Given the description of an element on the screen output the (x, y) to click on. 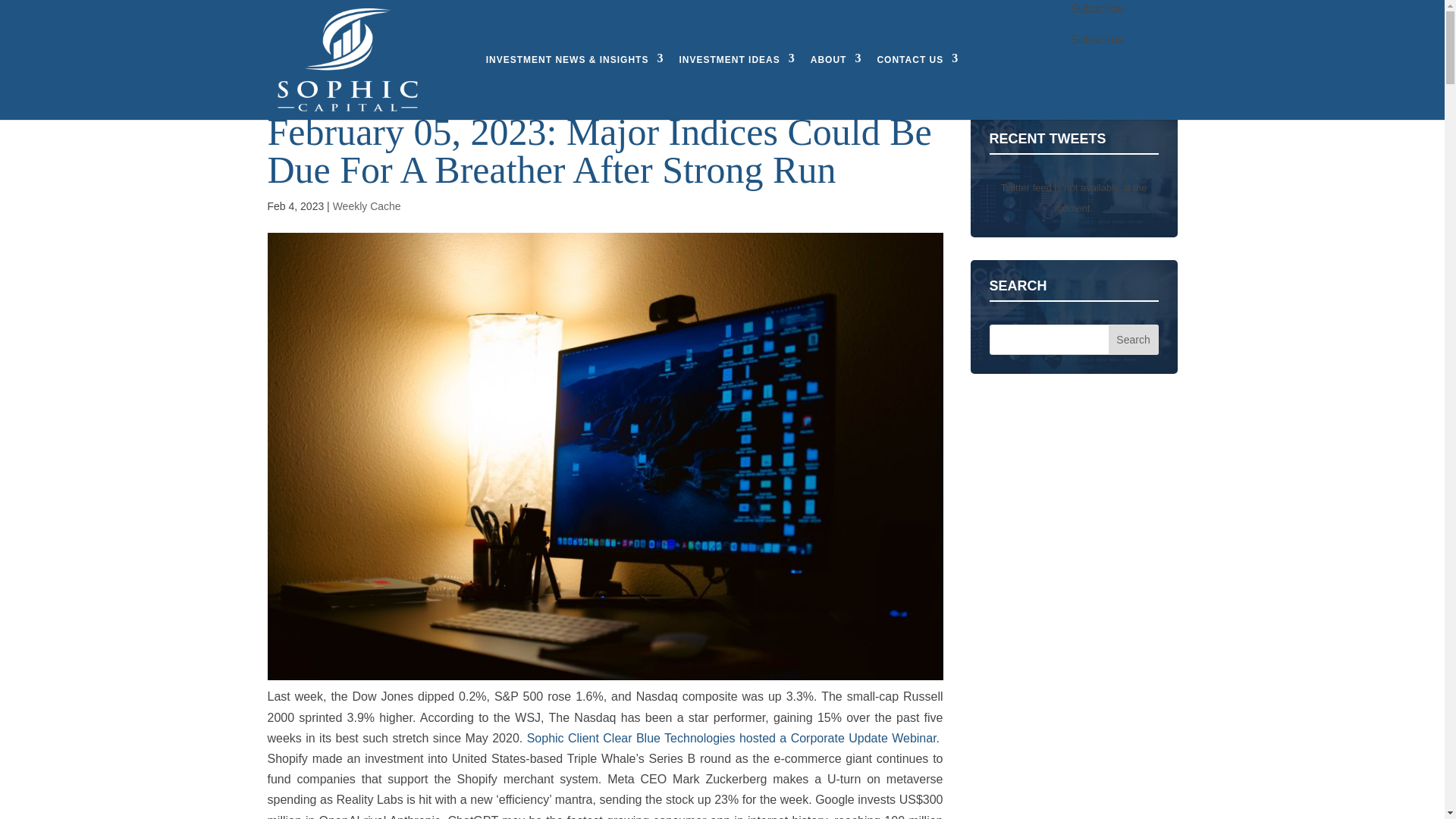
Search (1133, 339)
Sophic Capital (346, 59)
INVESTMENT IDEAS (736, 59)
